Given the description of an element on the screen output the (x, y) to click on. 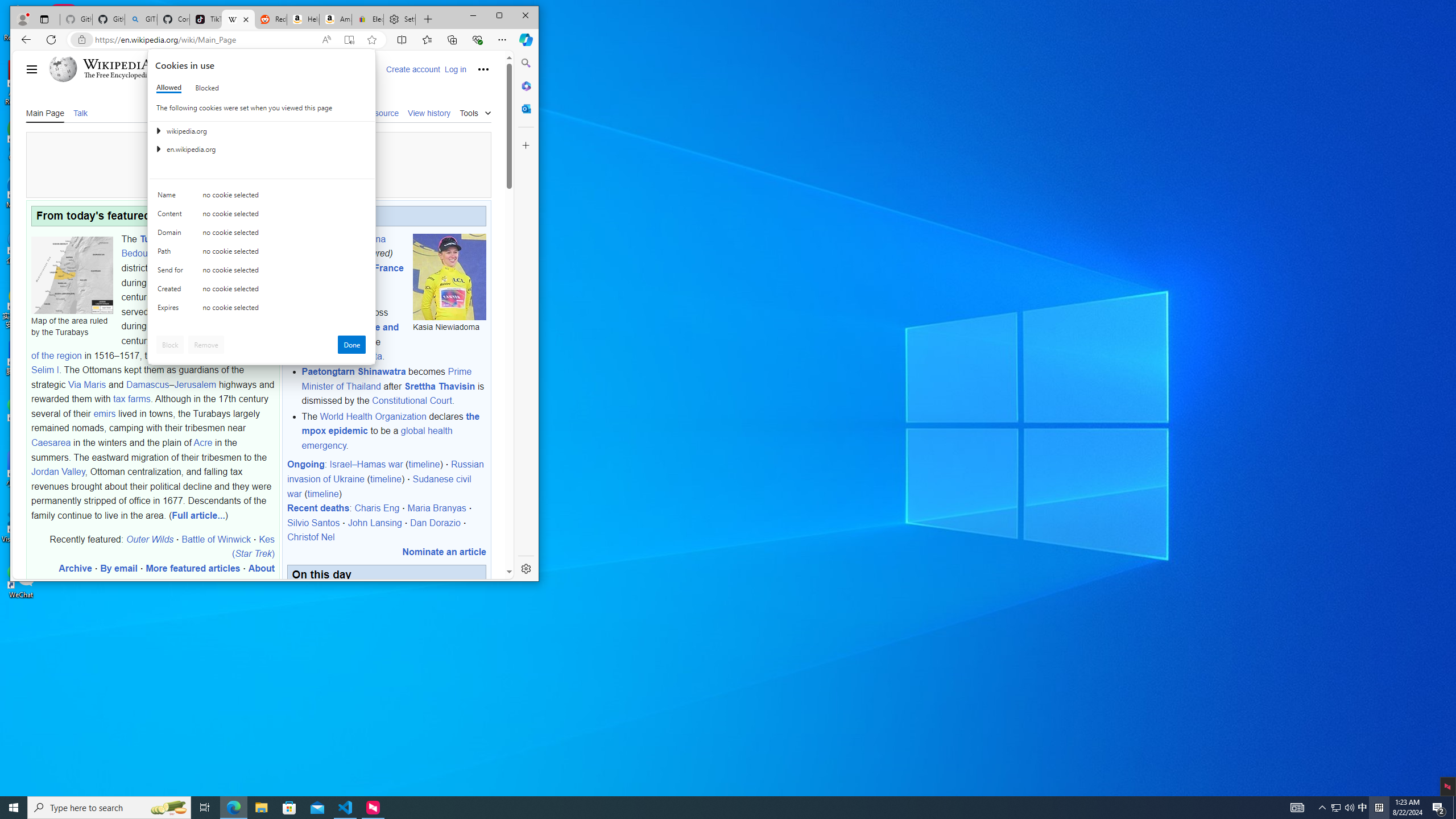
Blocked (206, 87)
Done (351, 344)
Path (172, 253)
no cookie selected (284, 310)
Q2790: 100% (1349, 807)
Content (172, 216)
Running applications (707, 807)
Visual Studio Code - 1 running window (345, 807)
Send for (172, 272)
Notification Chevron (1335, 807)
Start (1322, 807)
Show desktop (13, 807)
